Given the description of an element on the screen output the (x, y) to click on. 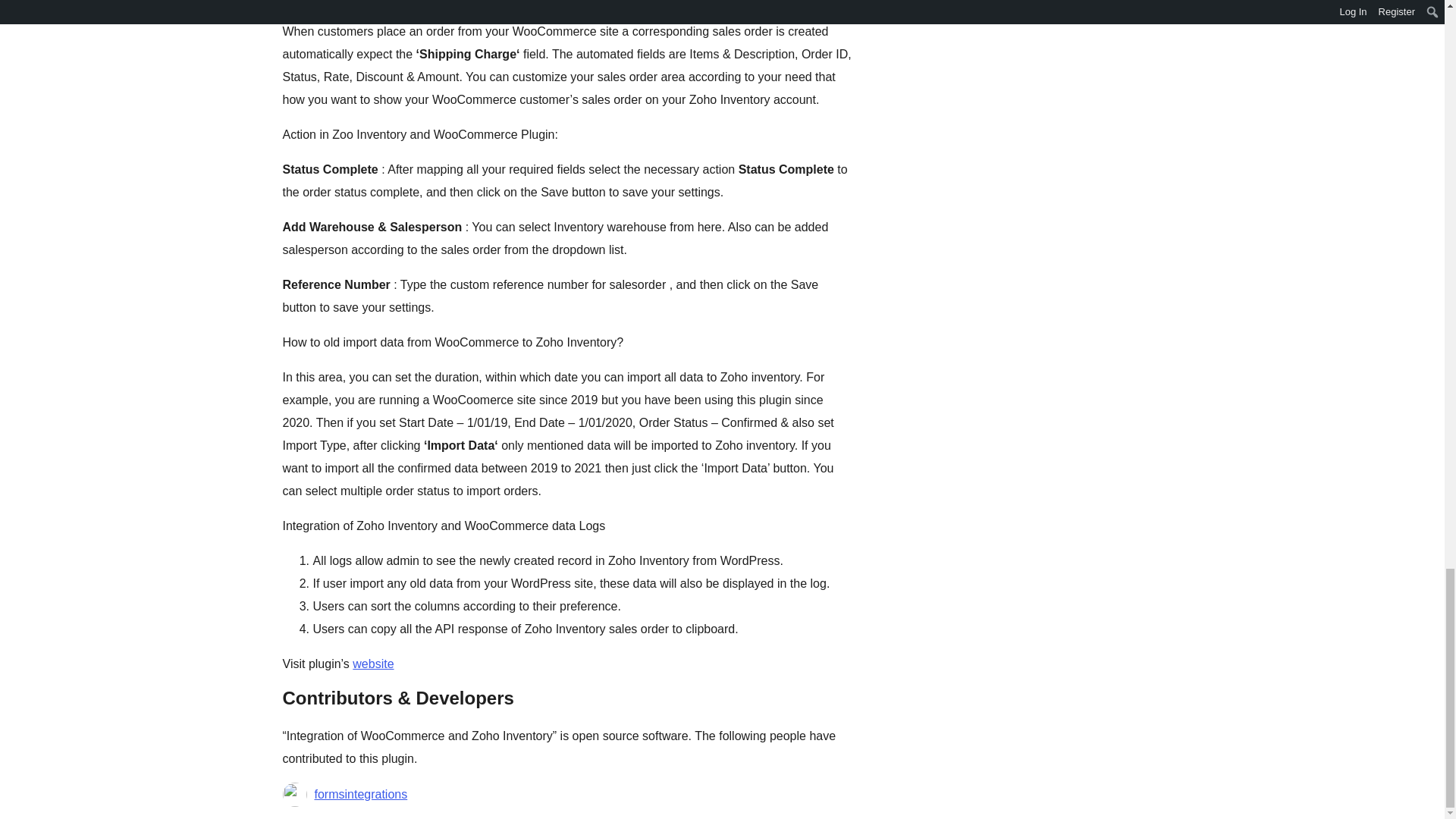
formsintegrations (360, 793)
website (372, 663)
